Given the description of an element on the screen output the (x, y) to click on. 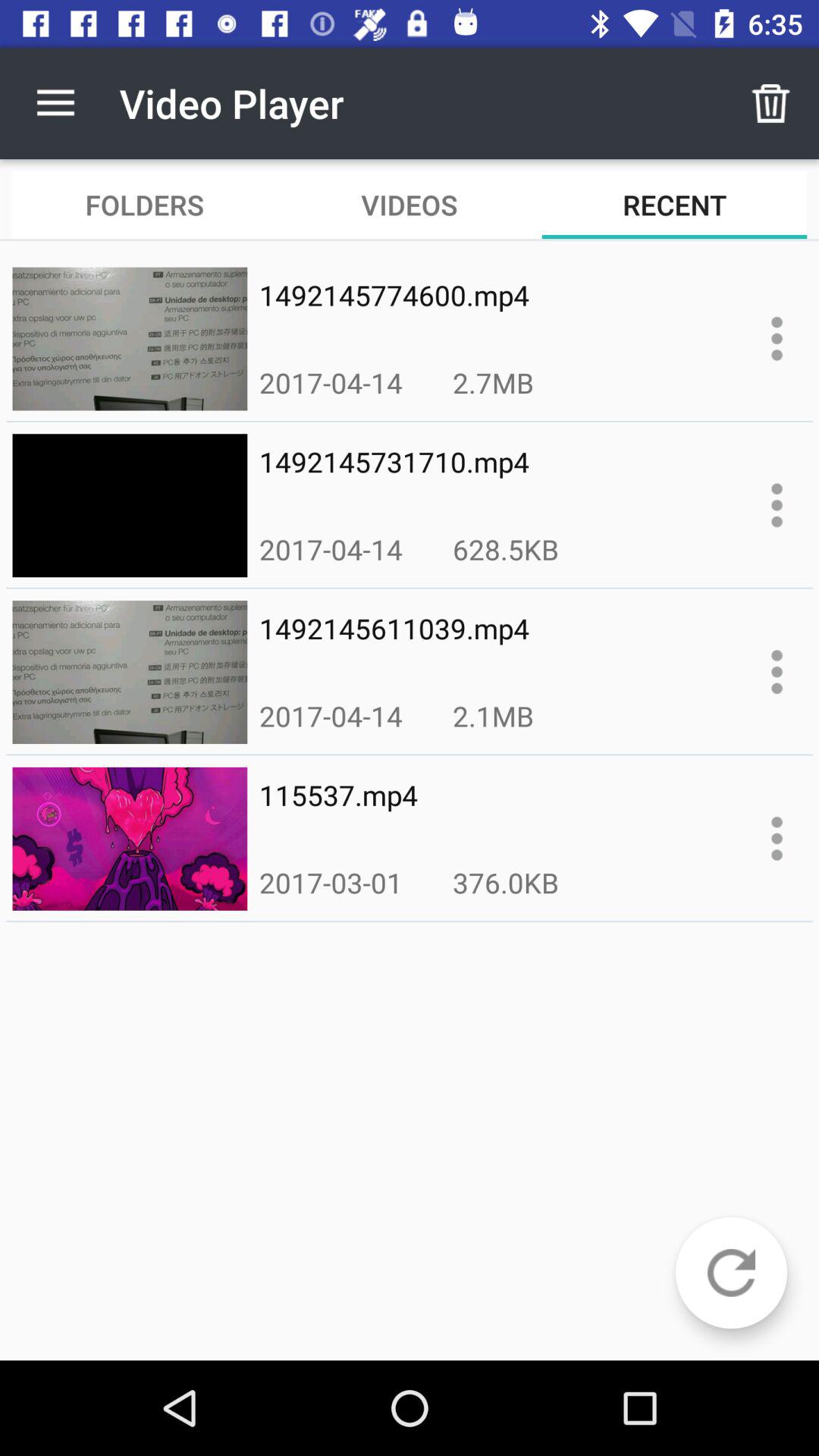
turn off the item next to 2017-03-01 item (505, 882)
